Given the description of an element on the screen output the (x, y) to click on. 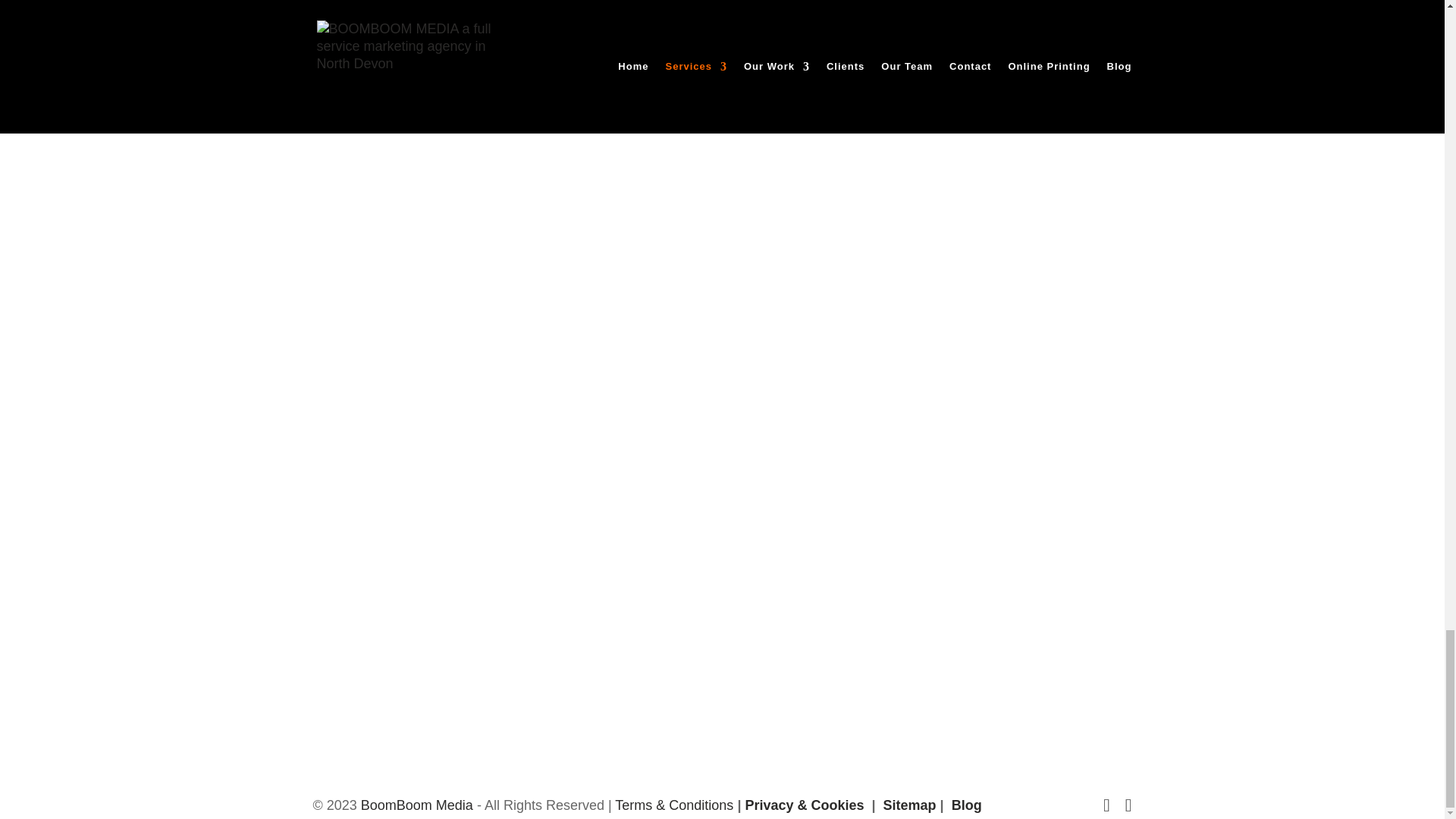
BoomBoom Media (417, 805)
Blog (964, 805)
Sitemap (907, 805)
